Given the description of an element on the screen output the (x, y) to click on. 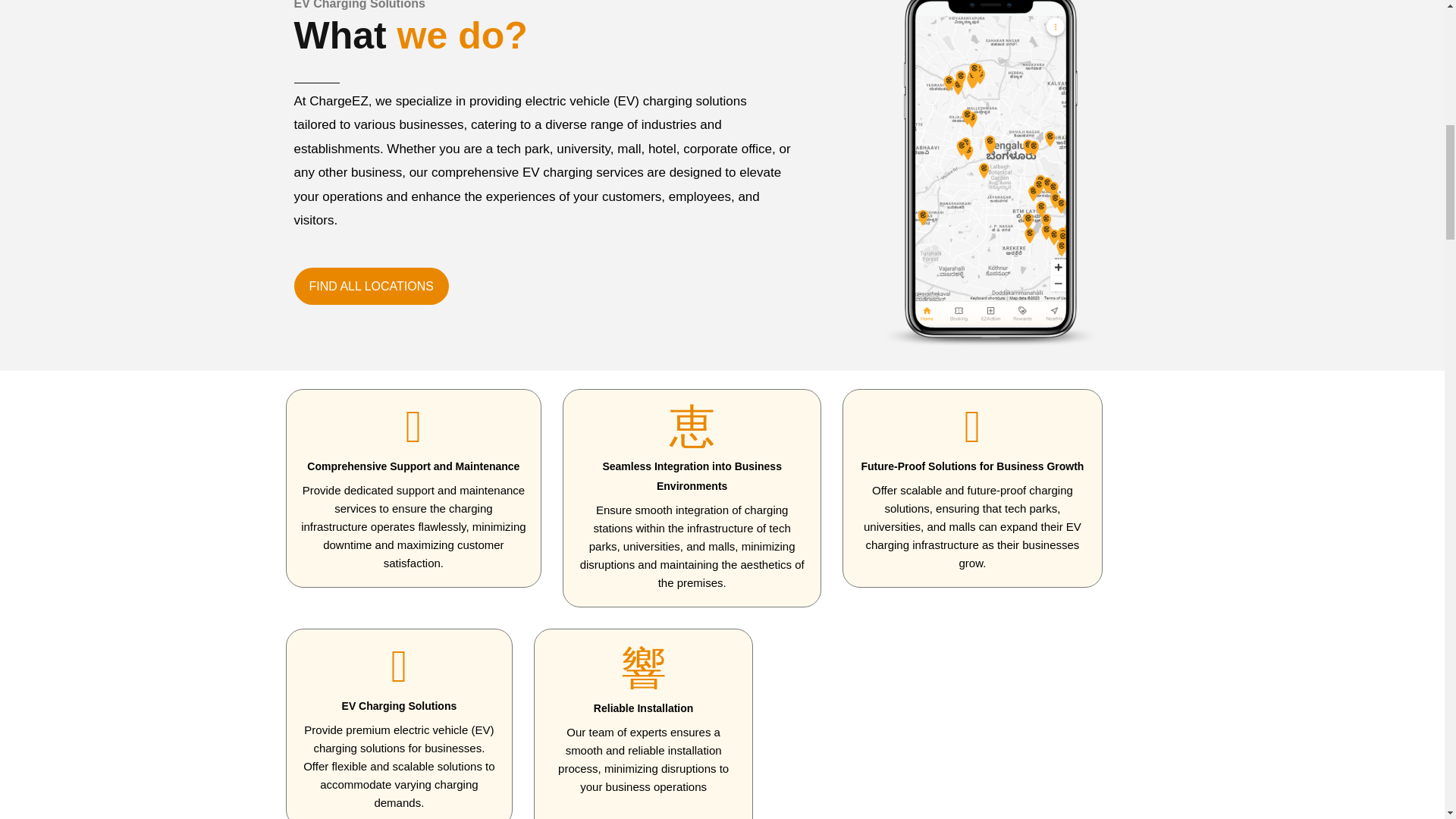
FIND ALL LOCATIONS (371, 286)
Comprehensive Support and Maintenance (413, 466)
Seamless Integration into Business Environments (691, 476)
Future-Proof Solutions for Business Growth (971, 466)
Reliable Installation (643, 707)
EV Charging Solutions (399, 705)
